Given the description of an element on the screen output the (x, y) to click on. 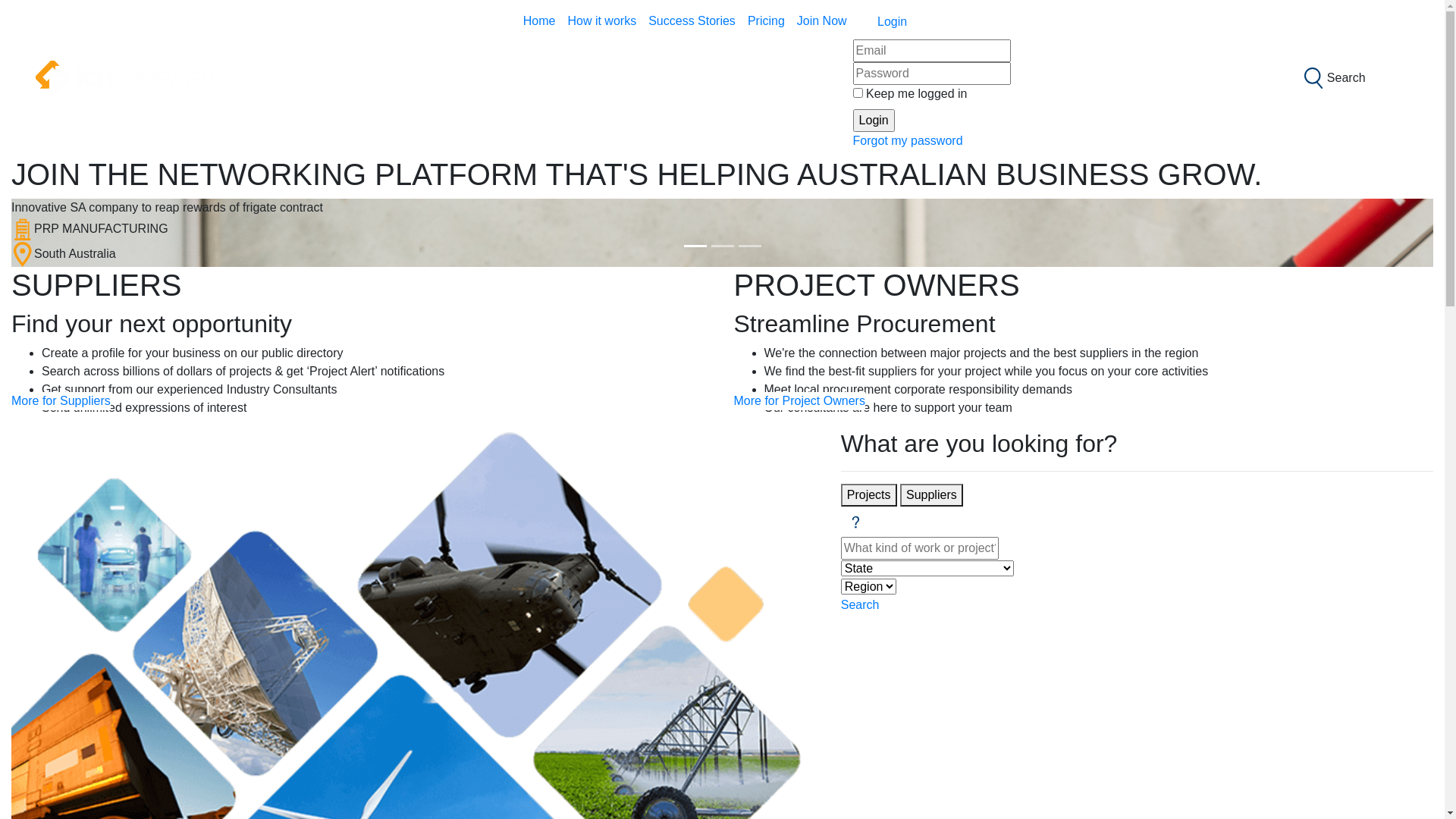
Search Element type: text (859, 605)
Join Now Element type: text (821, 21)
Next Element type: text (1326, 232)
Login Element type: text (931, 22)
ICN Gateway Home Element type: hover (124, 77)
Suppliers Element type: text (931, 494)
Search Projects or Suppliers Element type: hover (1313, 77)
Login menu Element type: hover (866, 22)
More for Project Owners Element type: text (799, 401)
Success Stories Element type: text (691, 21)
ICN Gateway Home Home Element type: text (525, 21)
More for Suppliers Element type: text (60, 401)
Previous Element type: text (117, 232)
Projects Element type: text (868, 494)
Pricing Element type: text (765, 21)
Search Element type: text (1362, 77)
How it works Element type: text (601, 21)
Forgot my password Element type: text (908, 140)
